Given the description of an element on the screen output the (x, y) to click on. 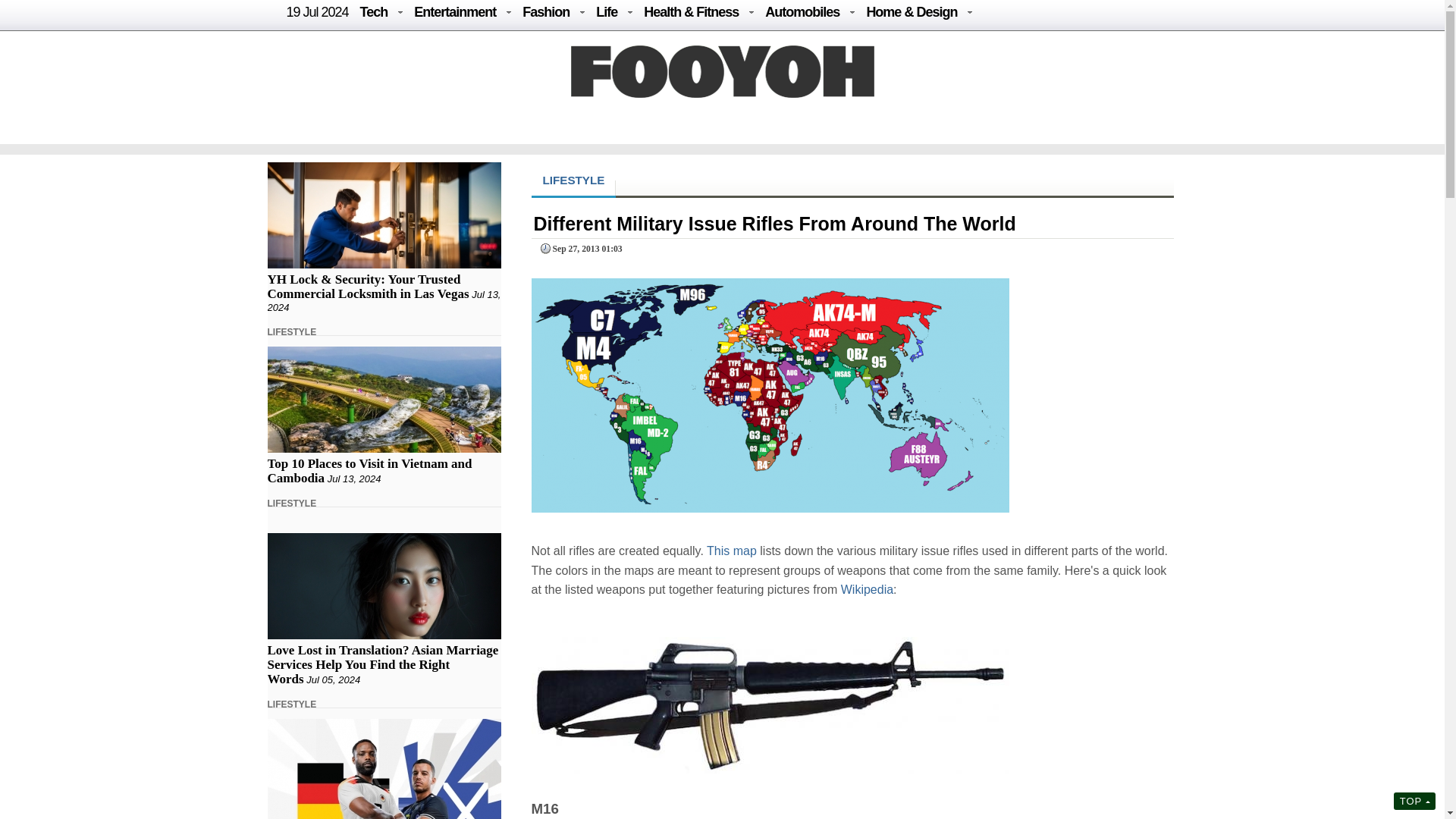
Fashion (545, 11)
Date (579, 248)
Entertainment (454, 11)
19 Jul 2024 (317, 11)
Tech (373, 11)
